Given the description of an element on the screen output the (x, y) to click on. 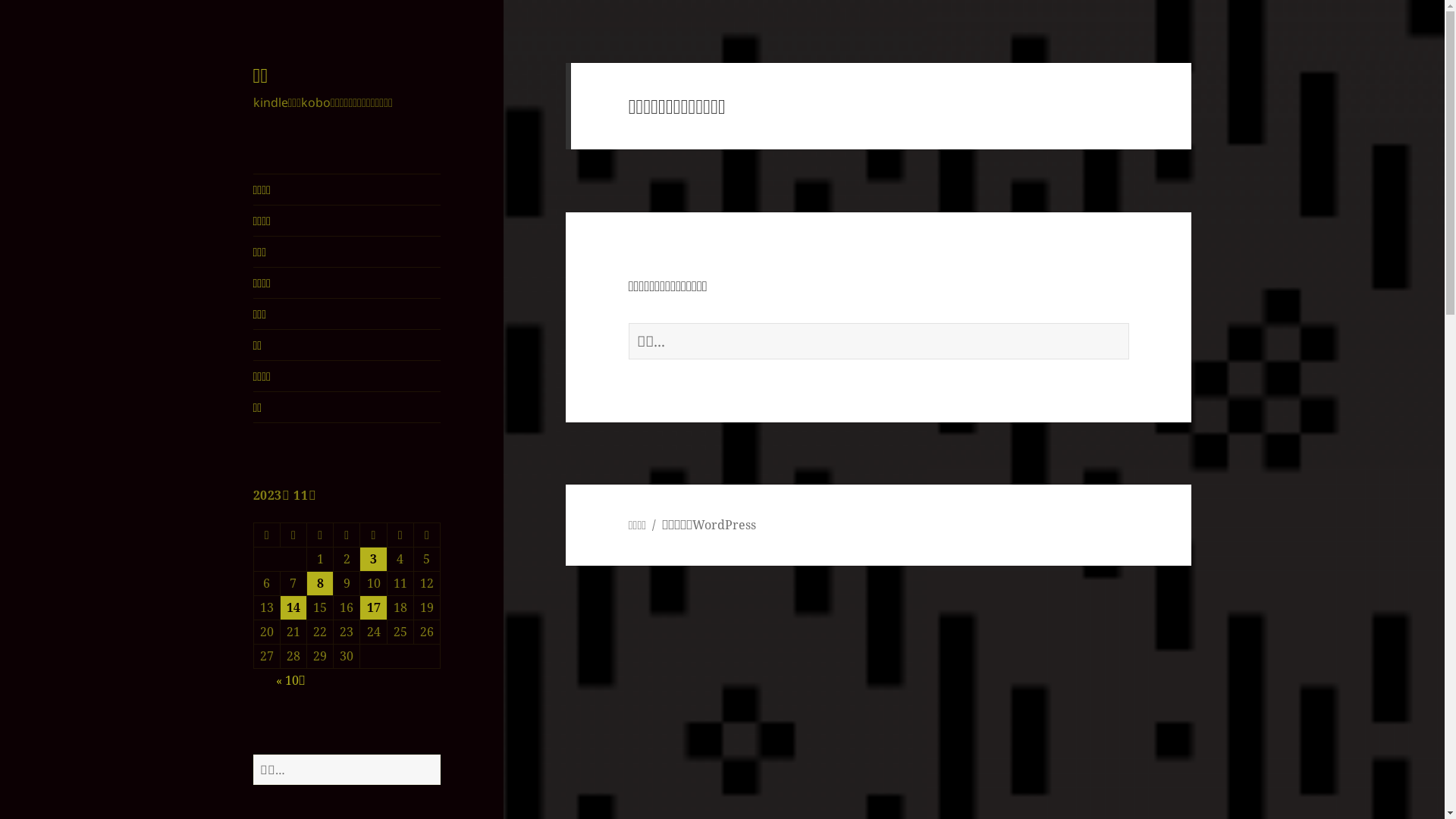
8 Element type: text (319, 583)
3 Element type: text (372, 559)
17 Element type: text (372, 607)
14 Element type: text (293, 607)
